Given the description of an element on the screen output the (x, y) to click on. 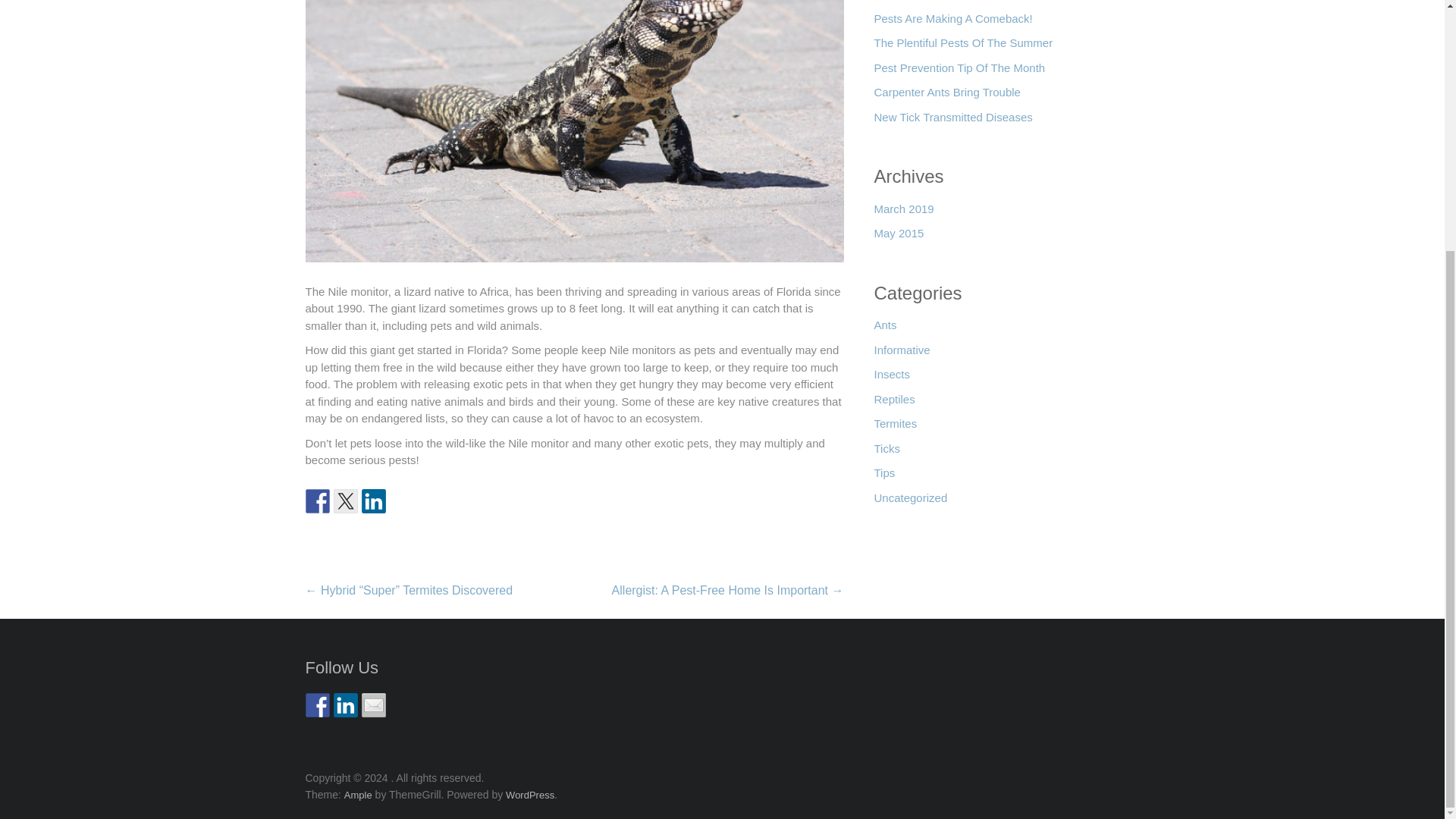
Pest Prevention Tip Of The Month (959, 72)
Ants (884, 329)
Find us on Linkedin (345, 704)
Reptiles (893, 403)
Follow us on Facebook (316, 704)
The Plentiful Pests Of The Summer (962, 47)
WordPress (529, 794)
New Tick Transmitted Diseases (952, 121)
Pests Are Making A Comeback! (952, 23)
Insects (891, 378)
Termites (895, 427)
March 2019 (903, 213)
Carpenter Ants Bring Trouble (946, 96)
Ticks (886, 453)
Informative (901, 354)
